Given the description of an element on the screen output the (x, y) to click on. 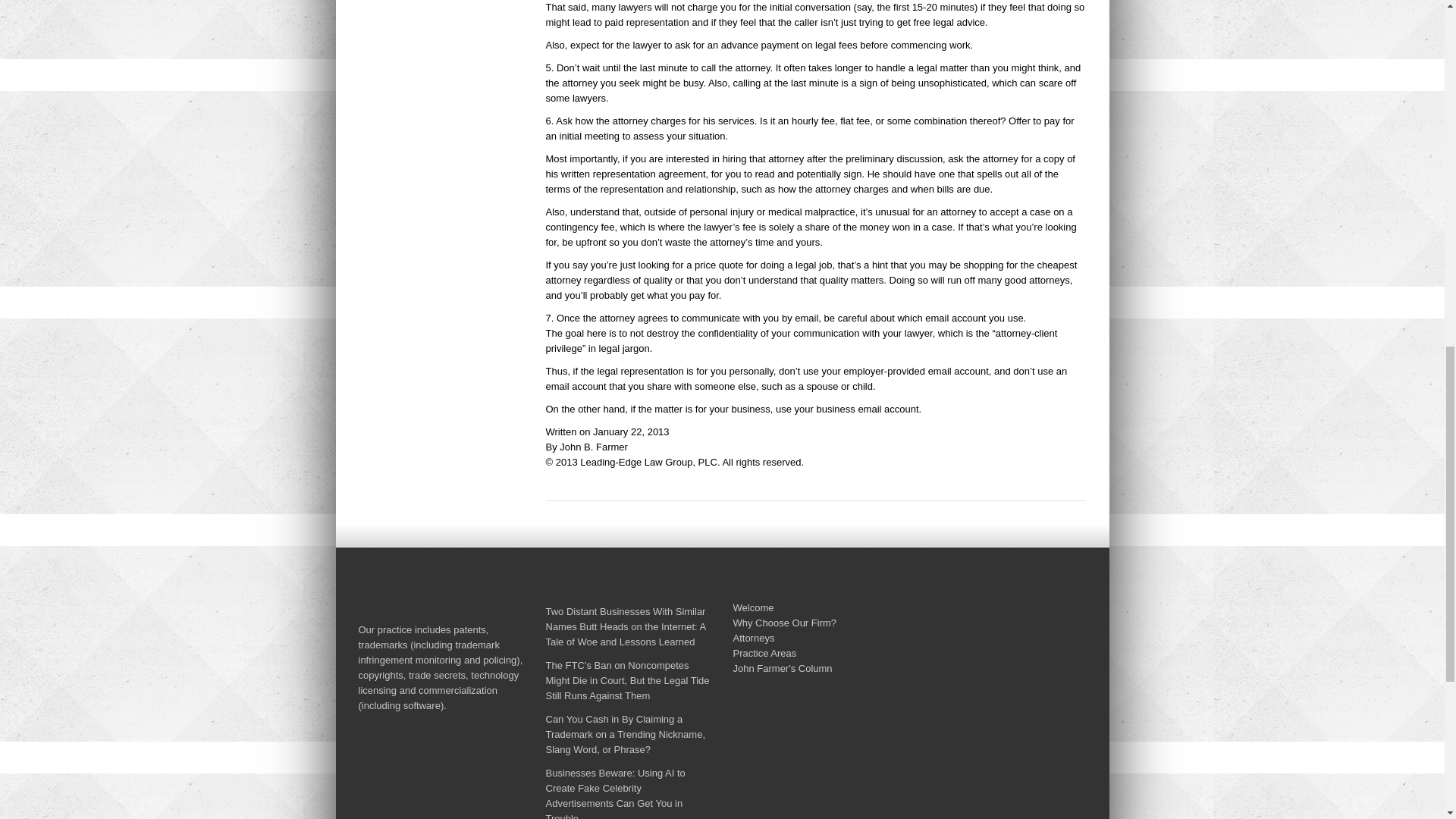
Practice Areas (764, 653)
Attorneys (753, 637)
John Farmer's Column (781, 668)
Welcome (752, 607)
Why Choose Our Firm? (783, 622)
